Given the description of an element on the screen output the (x, y) to click on. 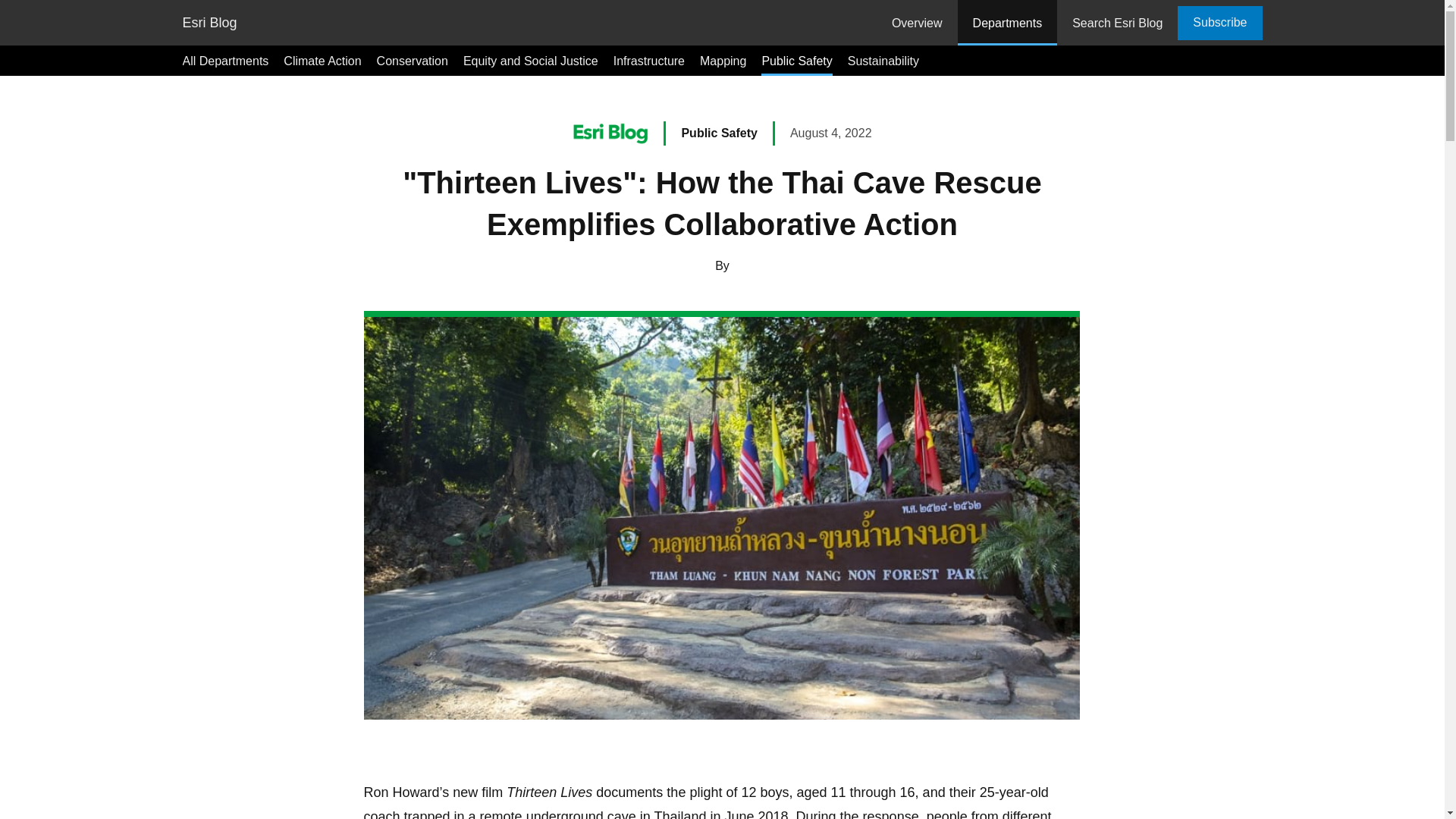
Sustainability (882, 60)
Equity and Social Justice (530, 60)
All Departments (224, 60)
Mapping (722, 60)
Esri Blog (208, 22)
Public Safety (796, 60)
Subscribe (1219, 22)
Departments (1008, 22)
Public Safety (719, 132)
Search Esri Blog (1117, 22)
